Given the description of an element on the screen output the (x, y) to click on. 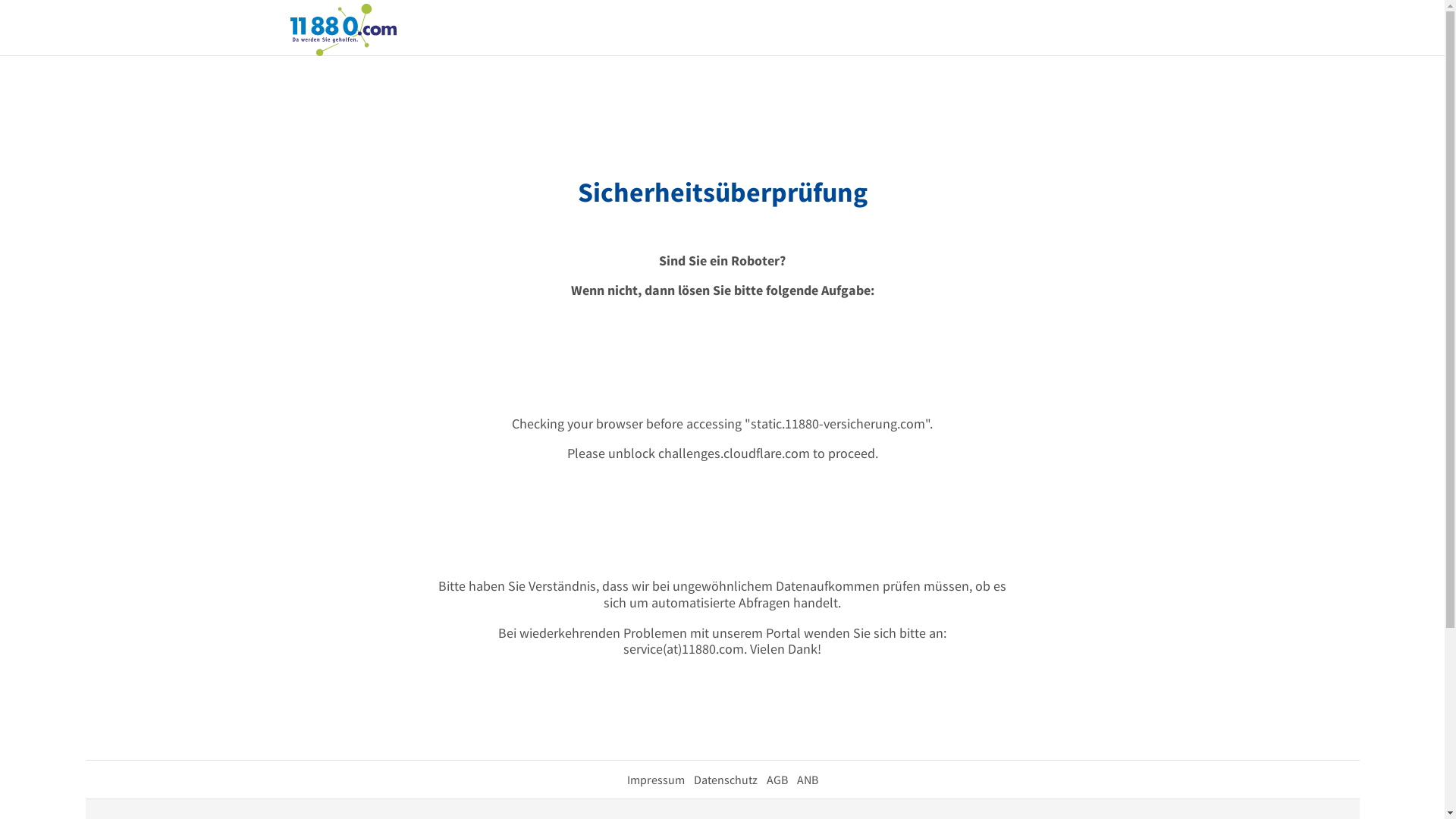
11880.com Element type: hover (342, 28)
Impressum Element type: text (655, 779)
AGB Element type: text (776, 779)
ANB Element type: text (806, 779)
Datenschutz Element type: text (724, 779)
